Given the description of an element on the screen output the (x, y) to click on. 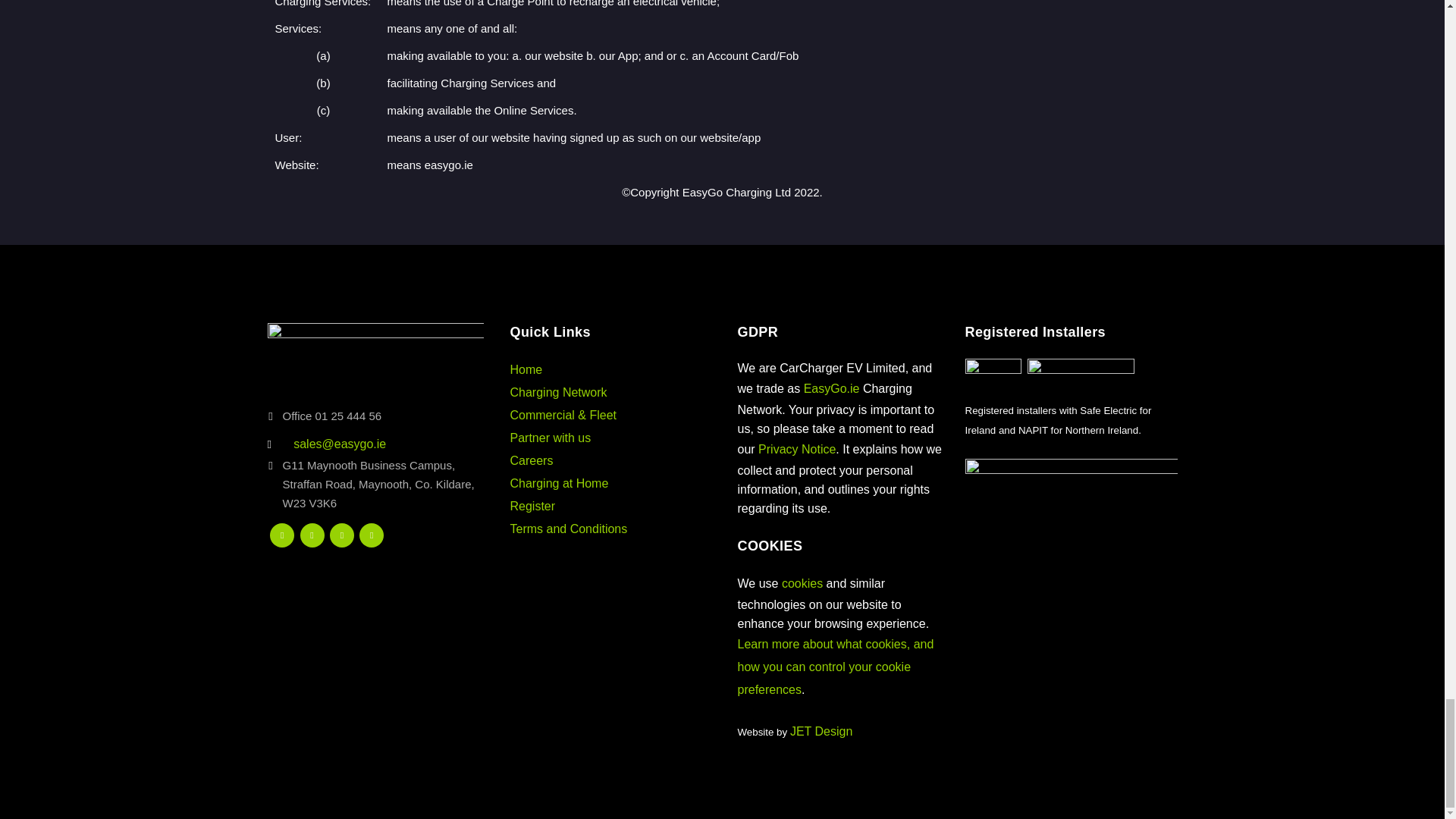
cookies (801, 583)
Charging at Home (558, 482)
Terms and Conditions (568, 528)
Privacy Notice (796, 449)
JET Design (820, 730)
Charging Network (558, 391)
Careers (531, 460)
EasyGo.ie (831, 388)
Register (531, 505)
Partner with us (550, 437)
